Given the description of an element on the screen output the (x, y) to click on. 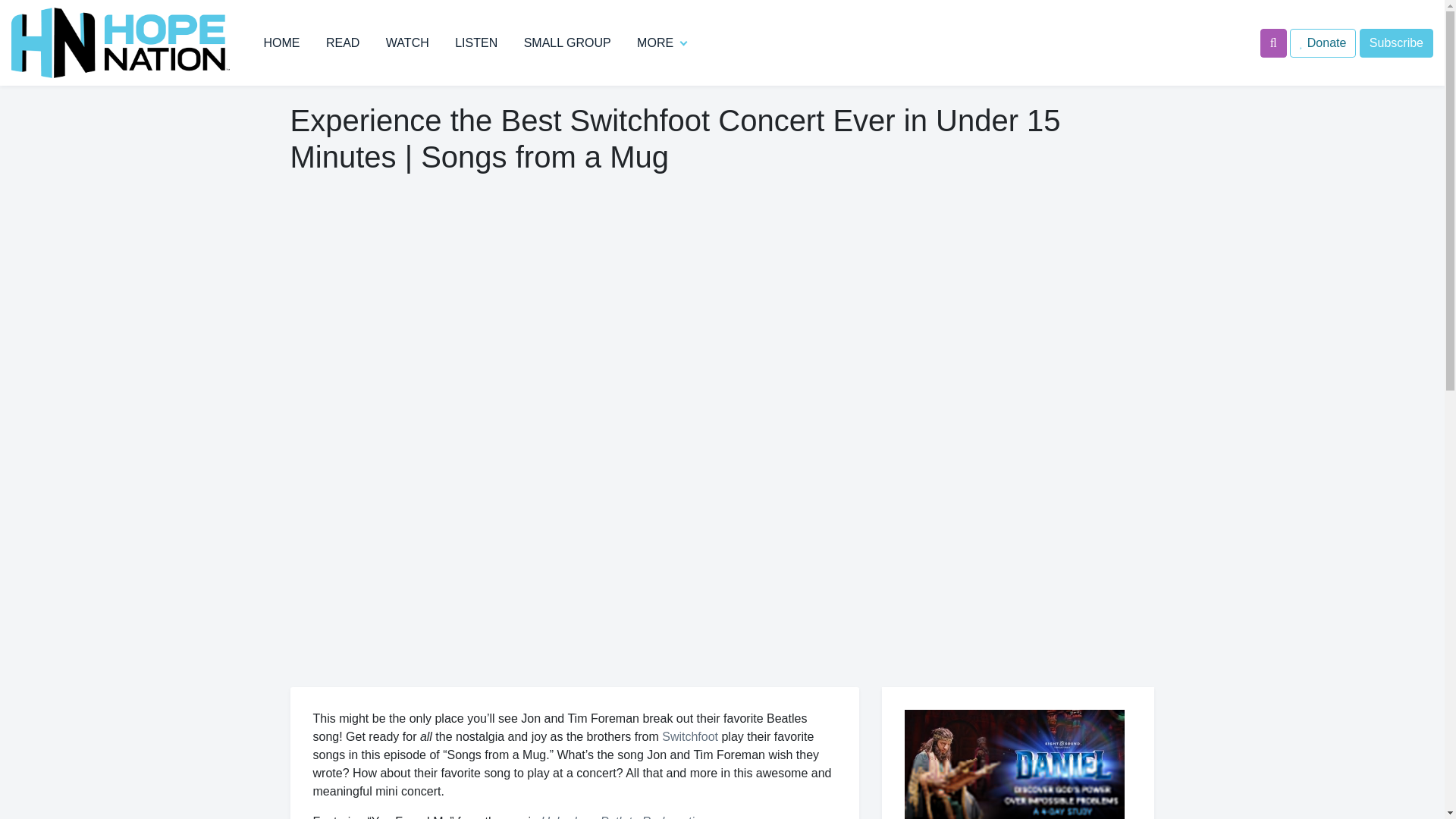
READ (342, 43)
Subscribe (1395, 42)
Switchfoot (689, 736)
Small Group (567, 43)
WATCH (407, 43)
MORE (655, 43)
SMALL GROUP (567, 43)
LISTEN (476, 43)
Listen (476, 43)
Watch (407, 43)
